Given the description of an element on the screen output the (x, y) to click on. 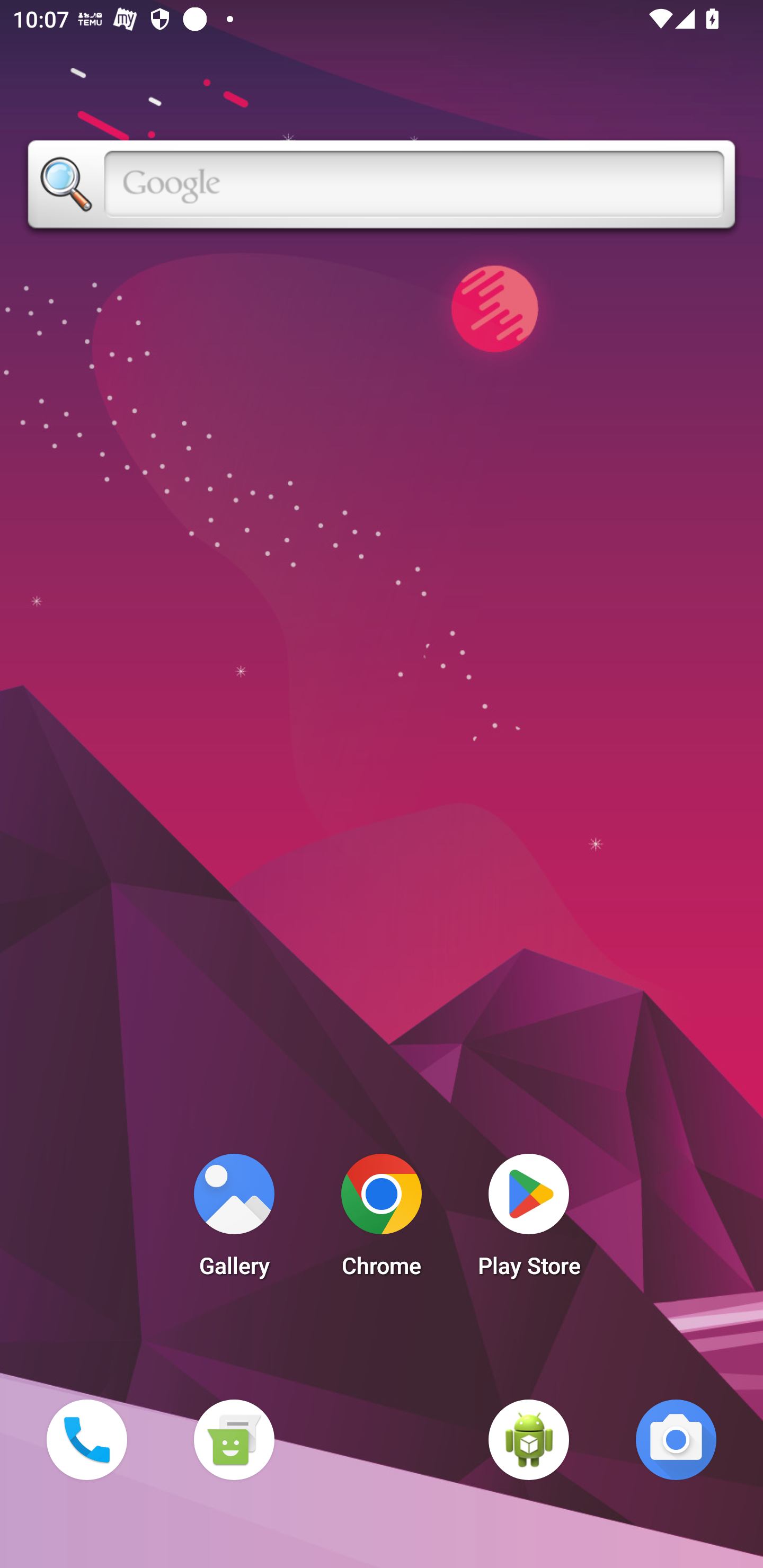
Gallery (233, 1220)
Chrome (381, 1220)
Play Store (528, 1220)
Phone (86, 1439)
Messaging (233, 1439)
WebView Browser Tester (528, 1439)
Camera (676, 1439)
